Given the description of an element on the screen output the (x, y) to click on. 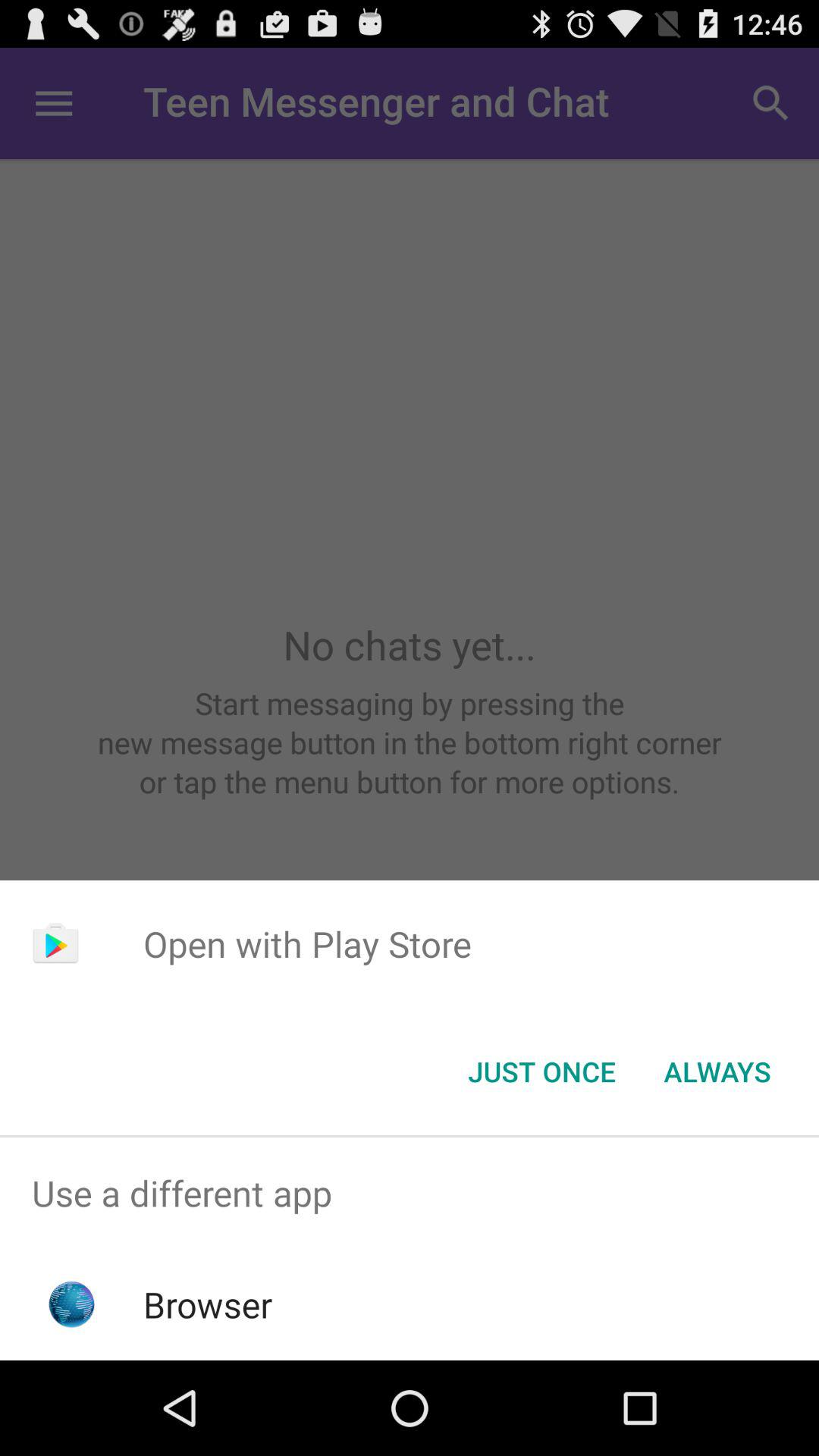
turn off always item (717, 1071)
